Given the description of an element on the screen output the (x, y) to click on. 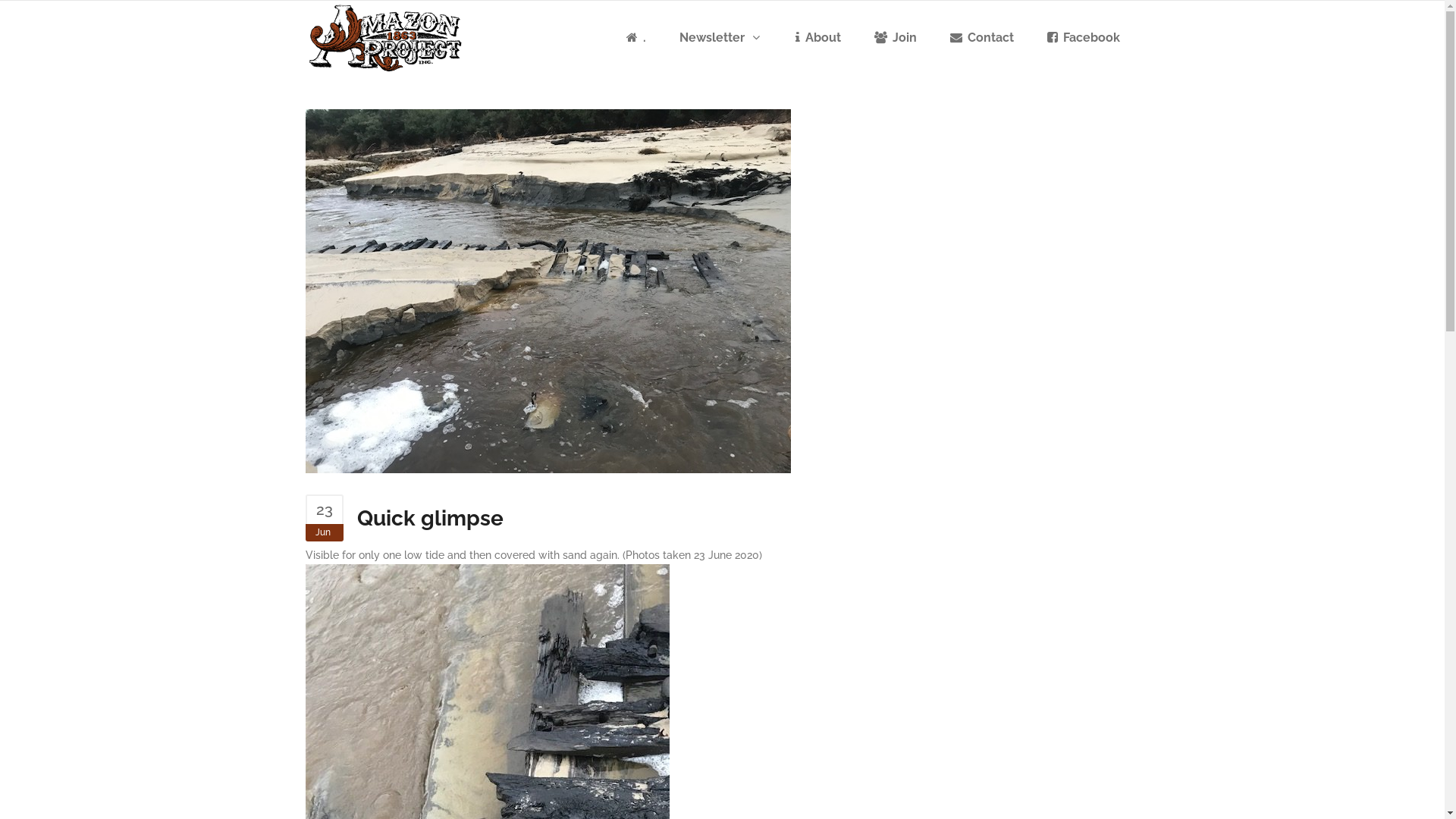
Join Element type: text (894, 37)
Newsletter Element type: text (720, 37)
Facebook Element type: text (1082, 37)
About Element type: text (817, 37)
. Element type: text (636, 37)
Contact Element type: text (981, 37)
